Given the description of an element on the screen output the (x, y) to click on. 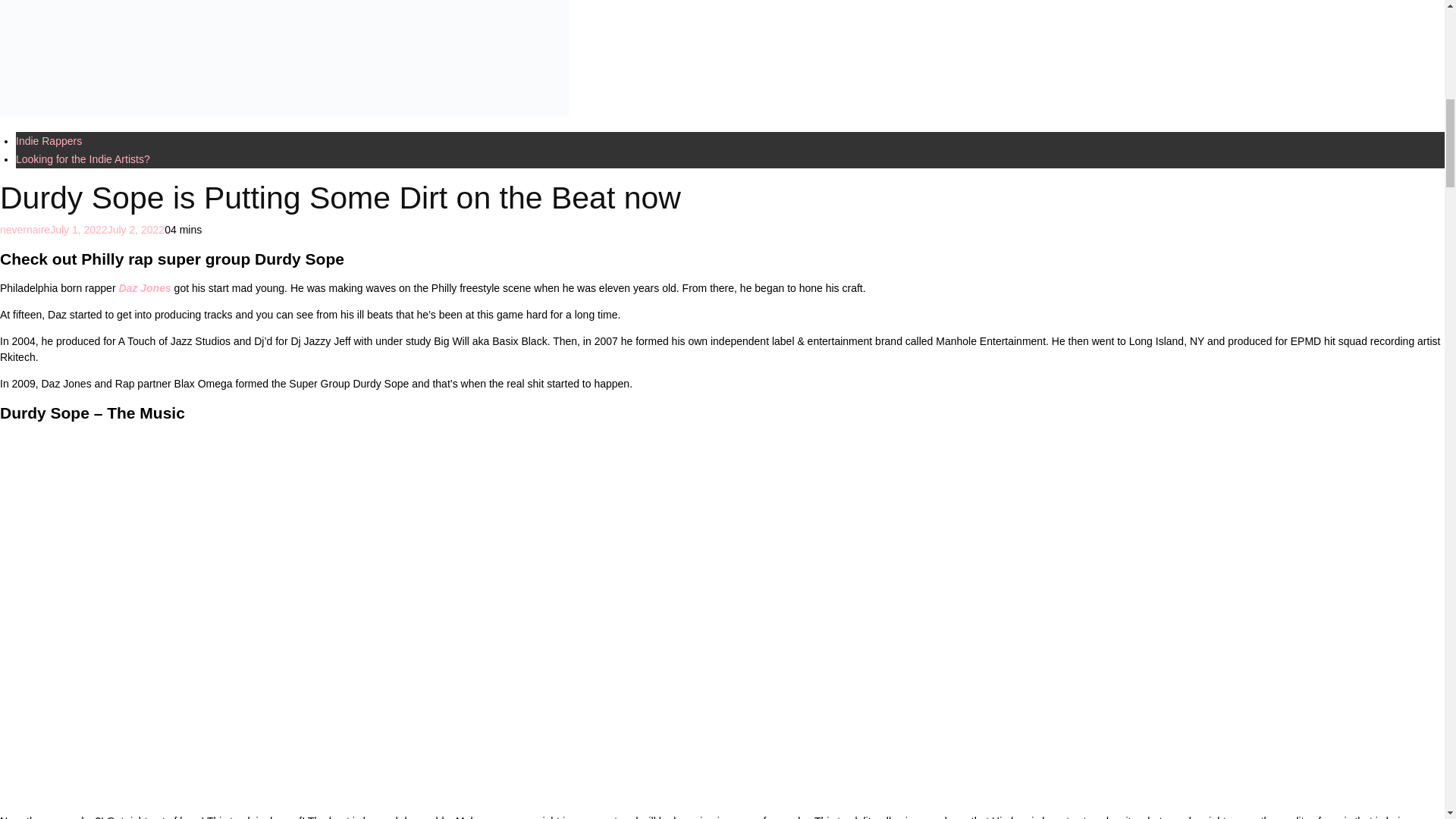
Daz Jones (143, 287)
Indie Rappers (48, 141)
nevernaire (24, 229)
Looking for the Indie Artists? (82, 159)
July 1, 2022July 2, 2022 (106, 229)
